Given the description of an element on the screen output the (x, y) to click on. 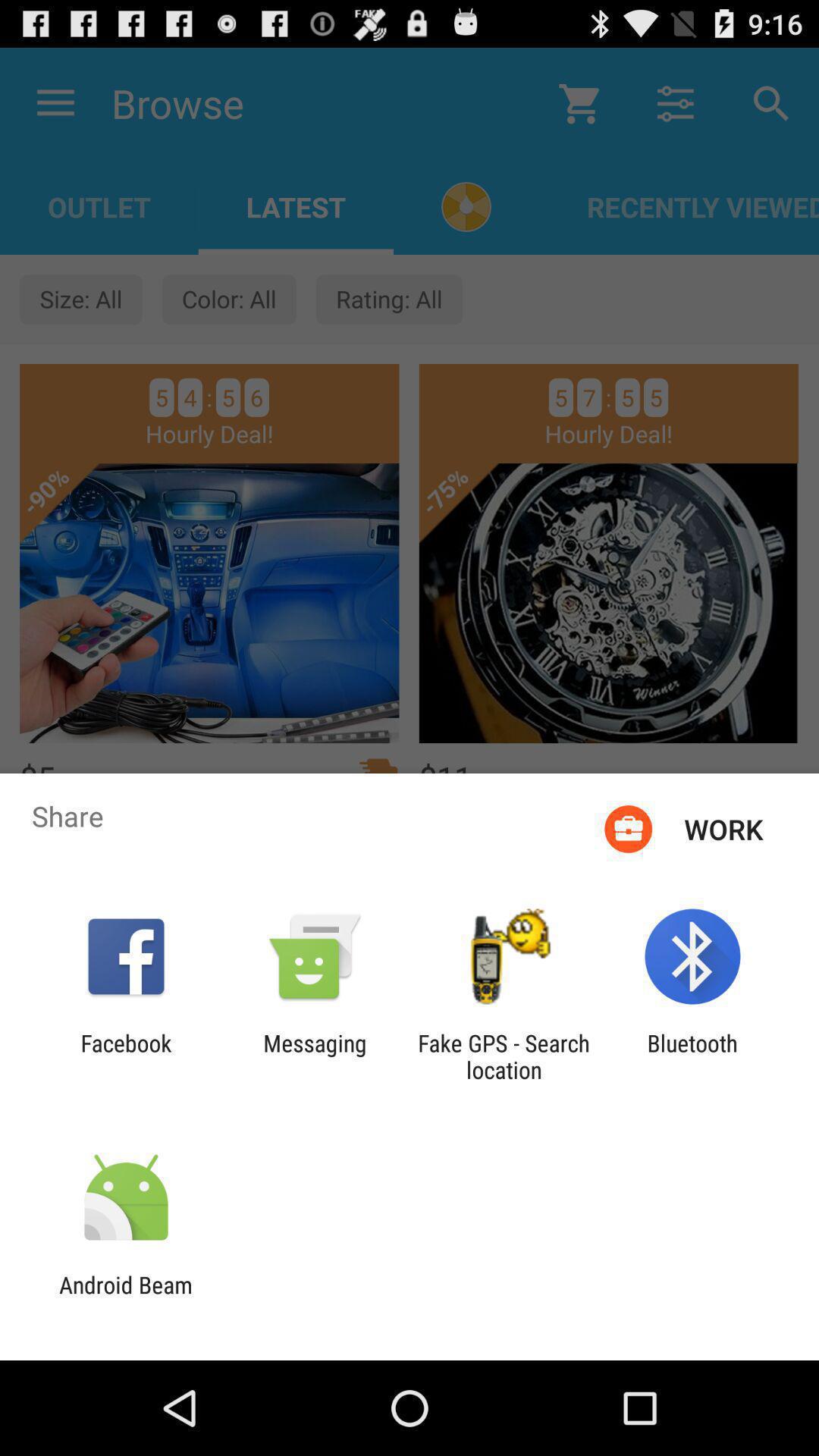
turn off icon next to messaging item (503, 1056)
